Given the description of an element on the screen output the (x, y) to click on. 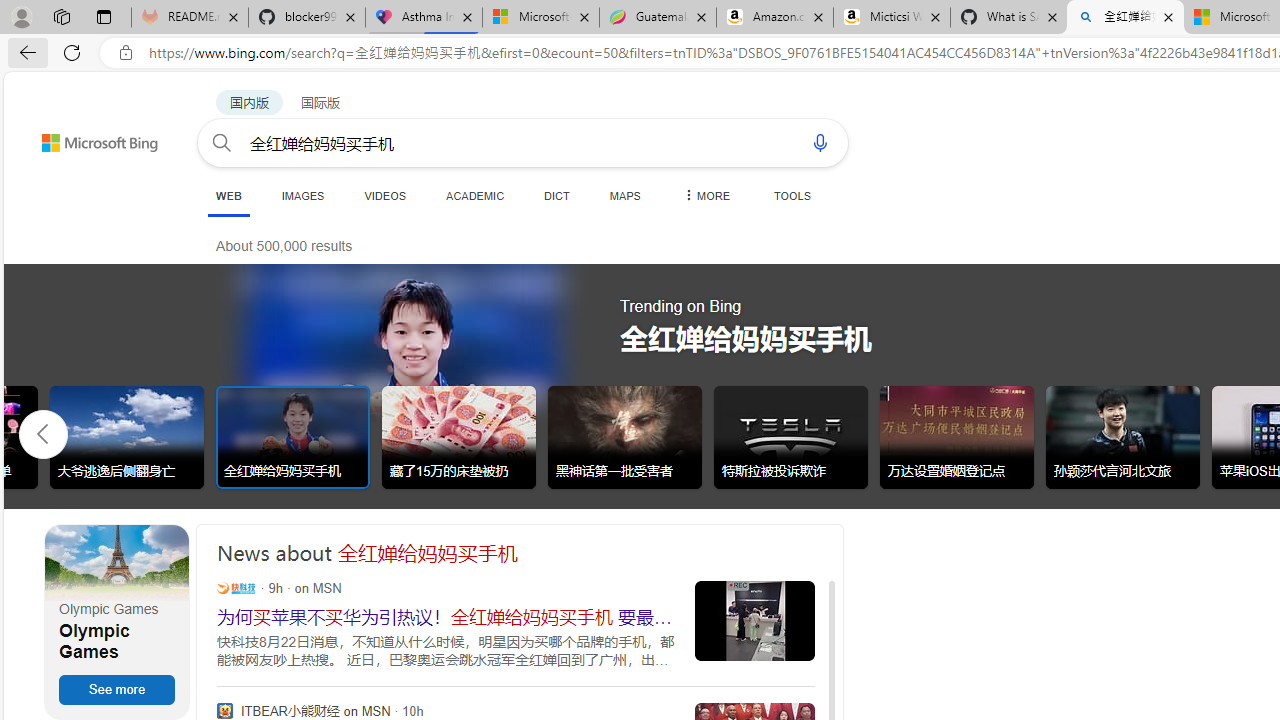
MAPS (624, 195)
Click to scroll left (43, 432)
VIDEOS (384, 195)
Search button (221, 142)
ACADEMIC (475, 195)
ACADEMIC (475, 195)
MAPS (624, 195)
Asthma Inhalers: Names and Types (424, 17)
